Given the description of an element on the screen output the (x, y) to click on. 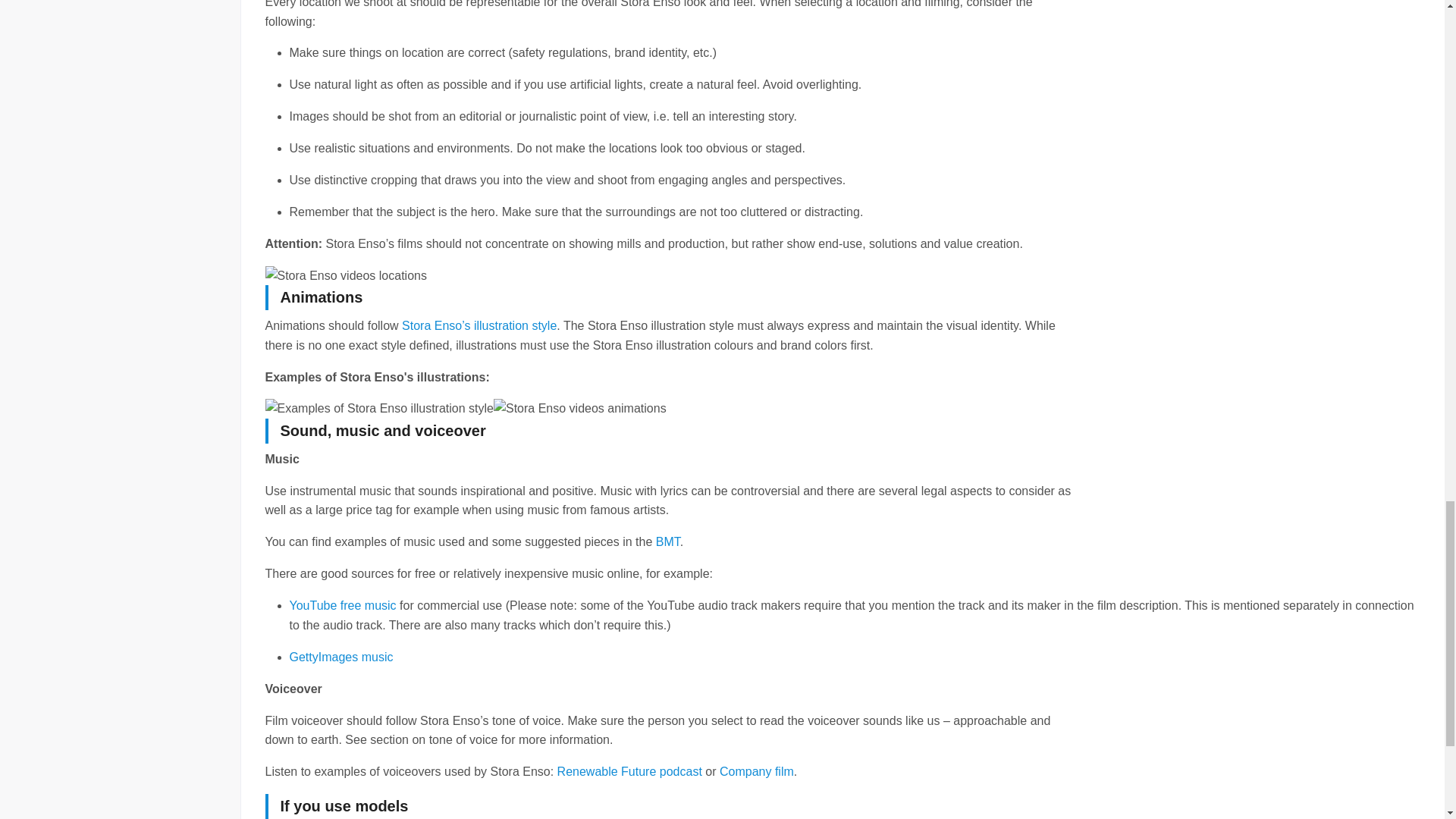
Renewable Future podcast (629, 771)
Company film (756, 771)
Stora Enso videos locations (345, 275)
GettyImages music (341, 656)
Stora Enso new illustration style (378, 408)
Stora Enso videos animations (579, 408)
BMT (667, 541)
YouTube free music (342, 604)
